Given the description of an element on the screen output the (x, y) to click on. 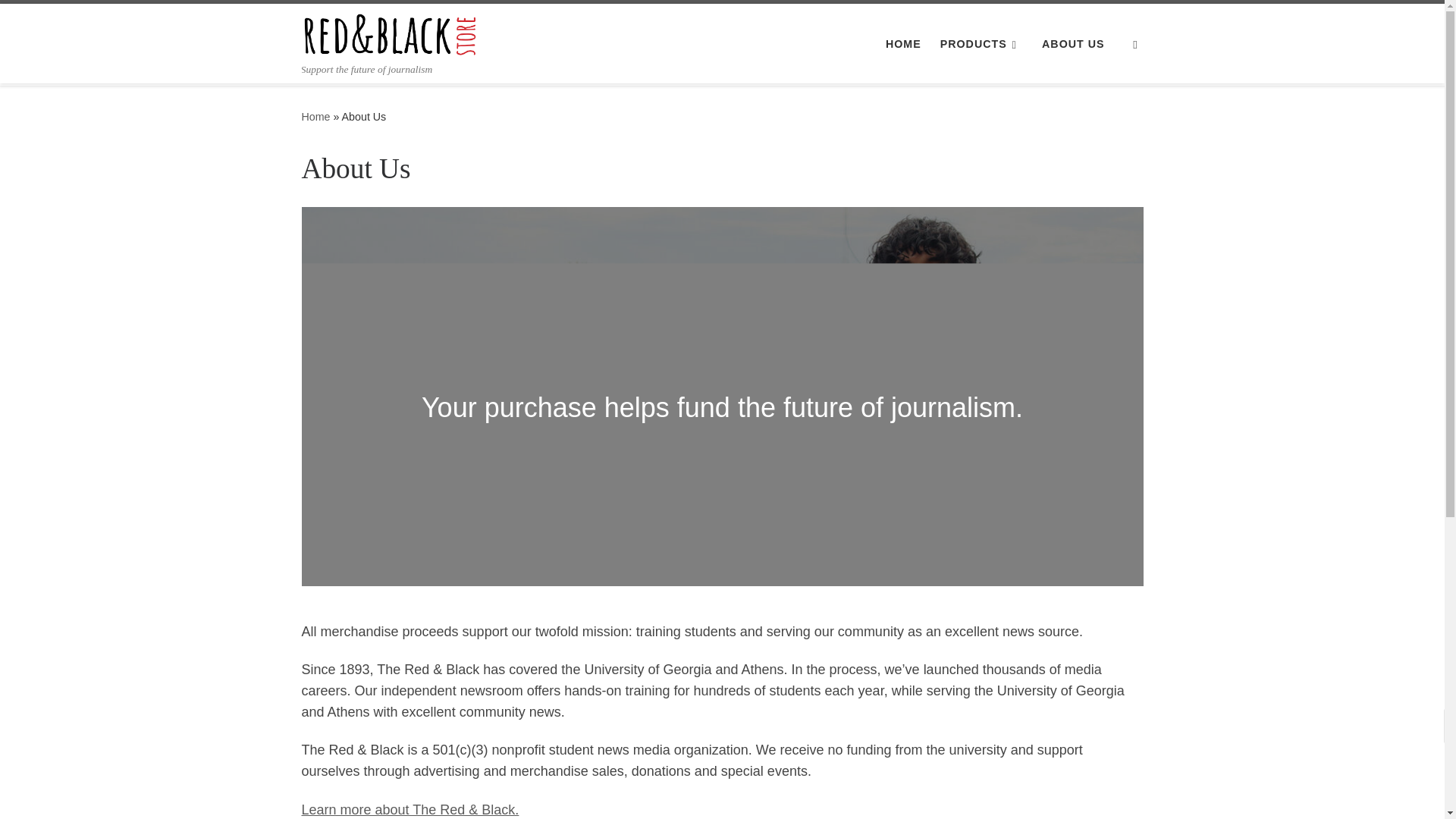
Skip to content (60, 20)
Home (315, 116)
ABOUT US (1072, 43)
PRODUCTS (980, 43)
HOME (903, 43)
